Given the description of an element on the screen output the (x, y) to click on. 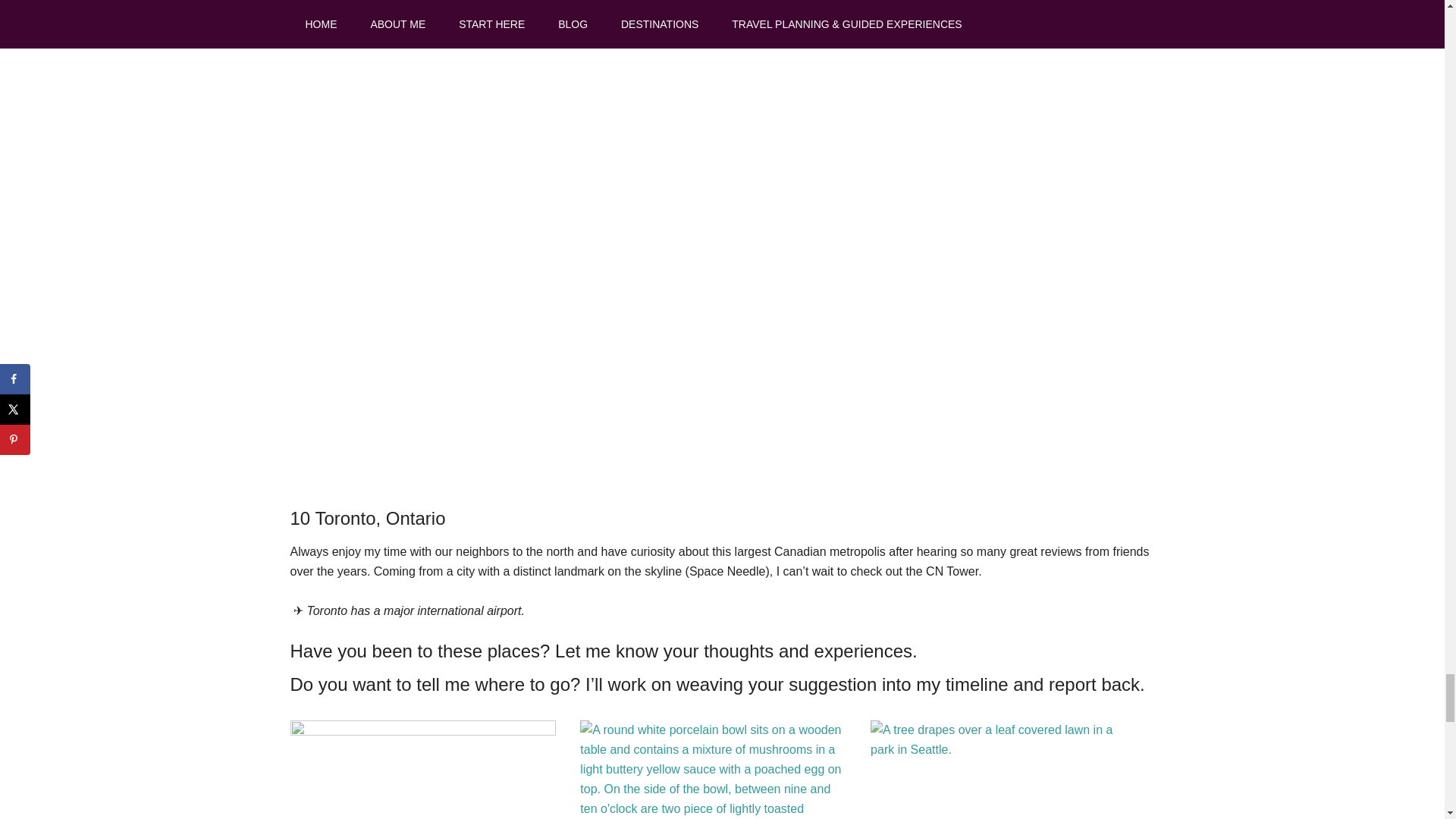
Where will you go in 2020?  A global wish list. (426, 769)
